Given the description of an element on the screen output the (x, y) to click on. 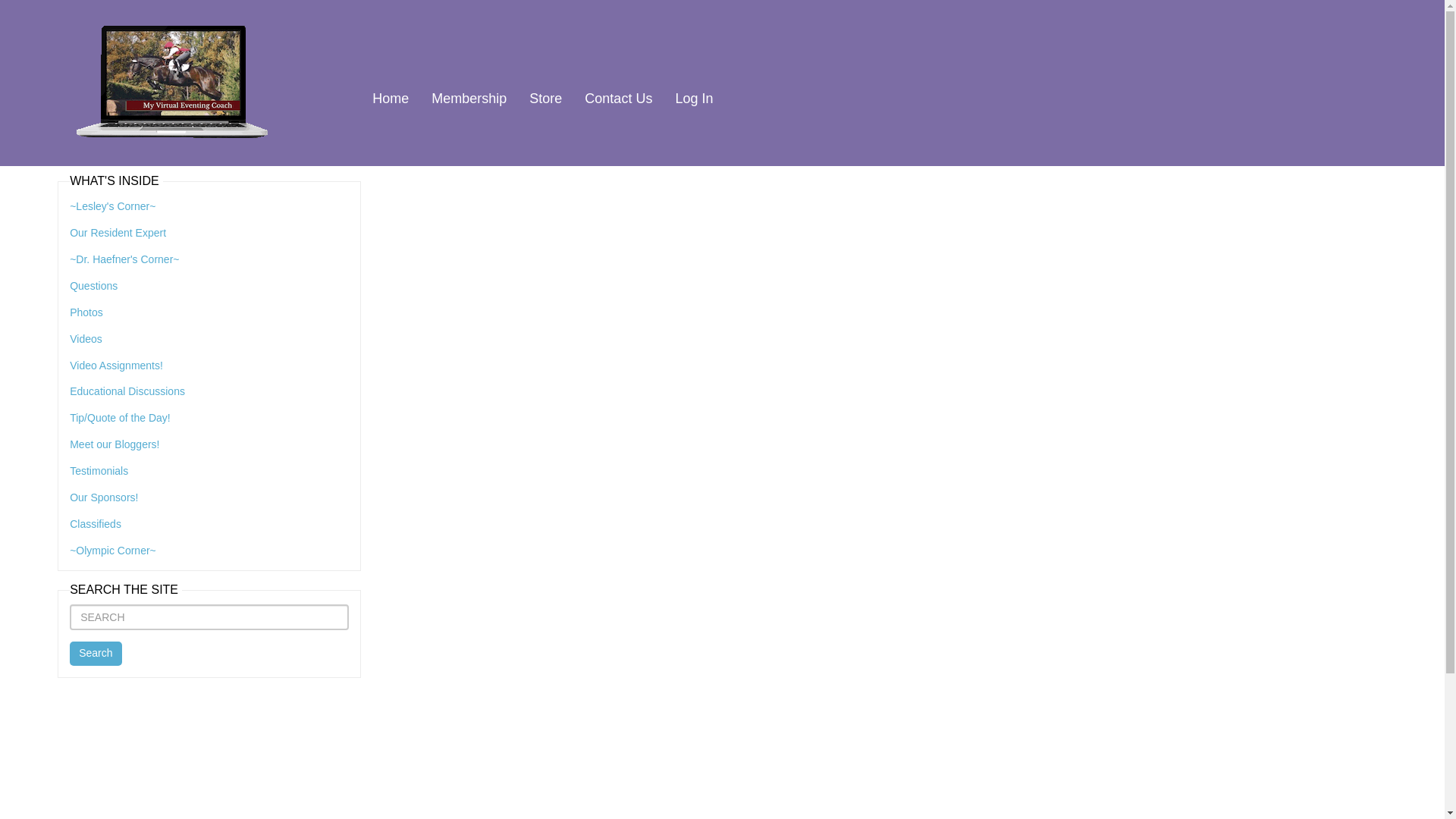
Educational Discussions (126, 390)
Testimonials (98, 470)
Video Assignments! (116, 365)
Home (390, 99)
Photos (86, 312)
Our Sponsors! (103, 497)
Search (94, 653)
Videos (85, 338)
Logo (171, 82)
Store (545, 99)
